Given the description of an element on the screen output the (x, y) to click on. 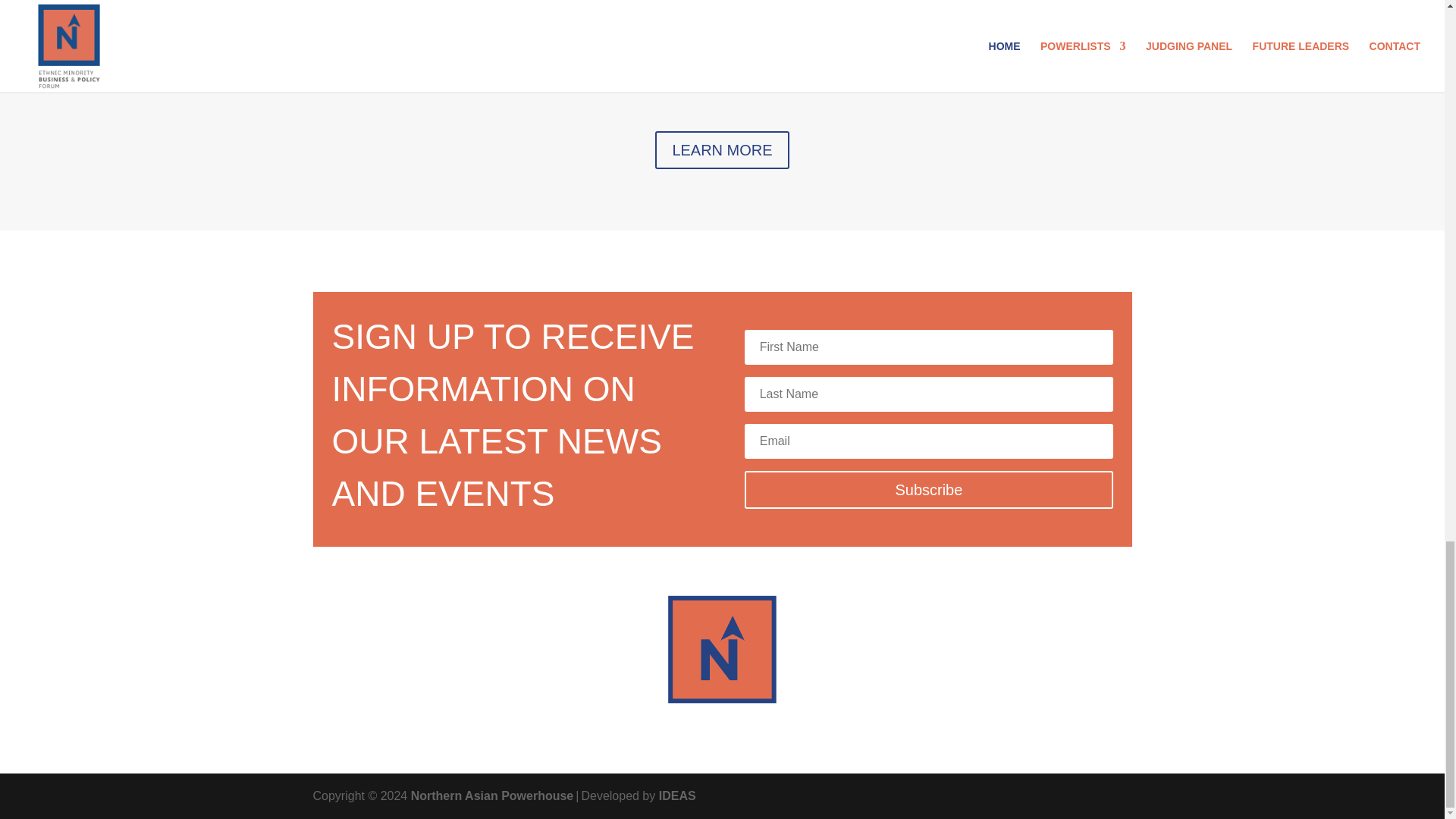
LEARN MORE (722, 149)
Northern Asian Powerhouse (491, 795)
IDEAS (677, 795)
Subscribe (928, 489)
